Given the description of an element on the screen output the (x, y) to click on. 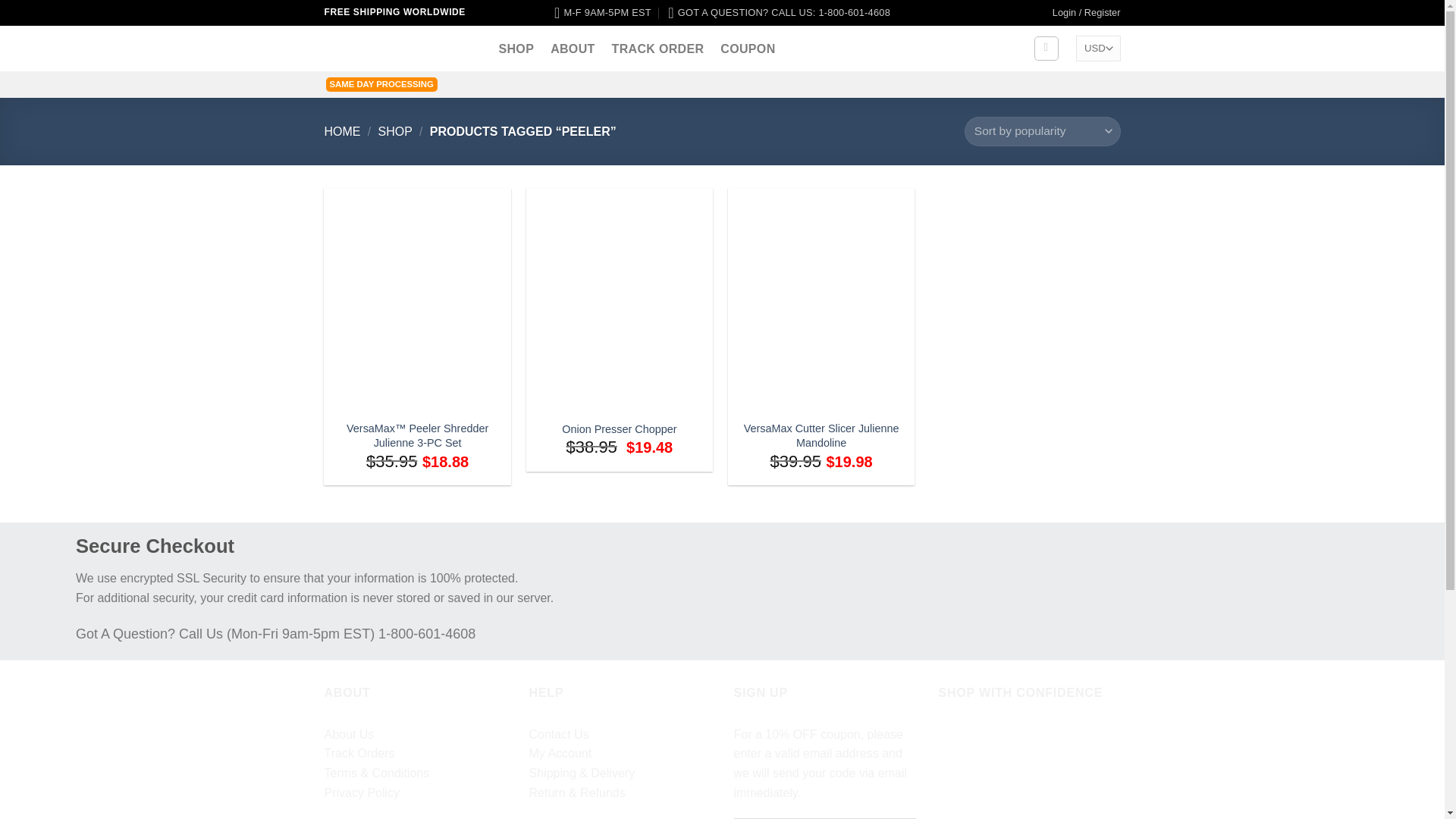
SHOP (394, 131)
HOME (342, 131)
ABOUT (572, 49)
VersaMax Cutter Slicer Julienne Mandoline (821, 435)
M-F 9AM-5PM EST (602, 12)
COUPON (747, 49)
OHHHOME.COM (400, 48)
M-F 9am-5pm EST  (602, 12)
Track Orders (359, 753)
